Given the description of an element on the screen output the (x, y) to click on. 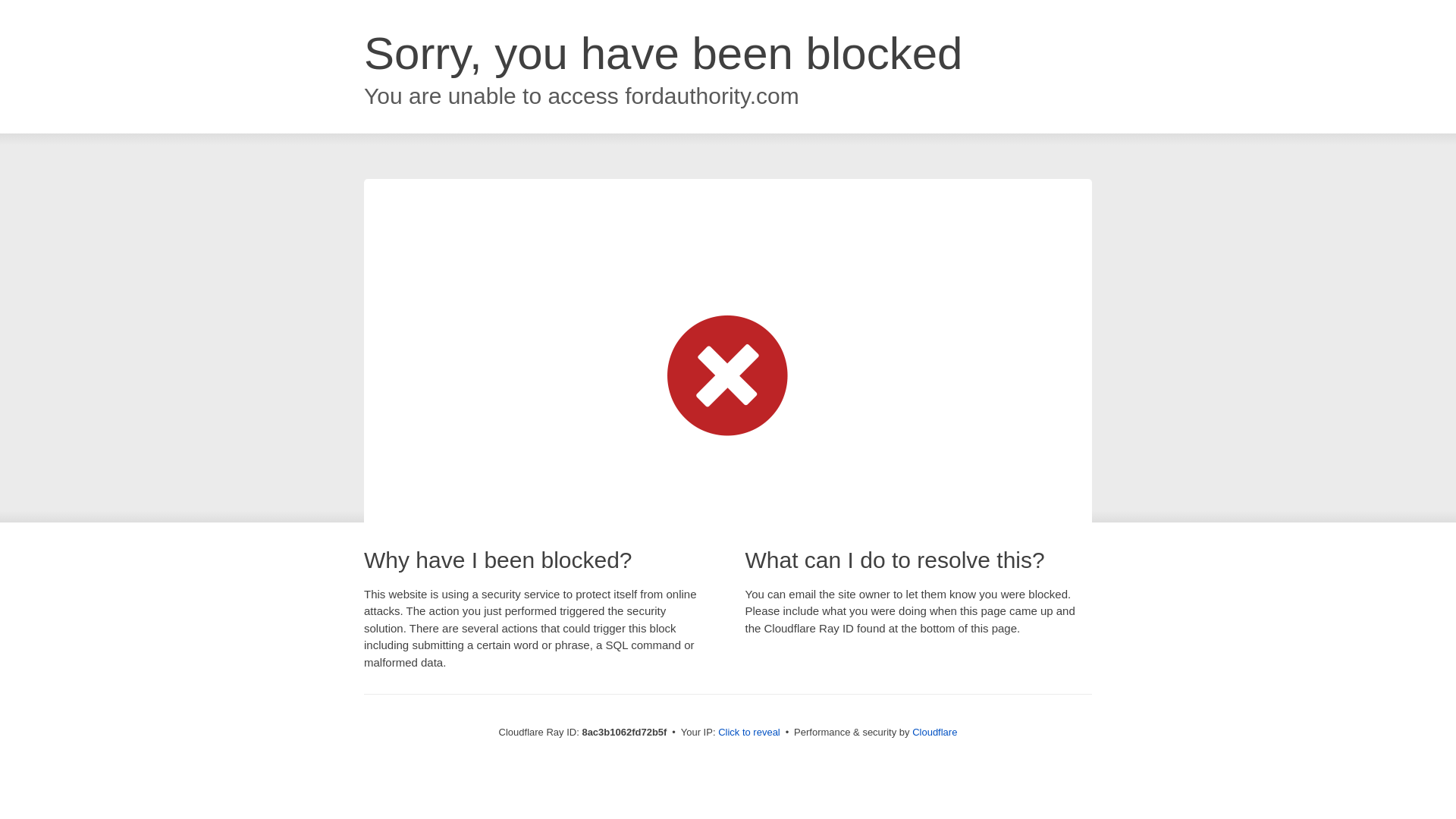
Click to reveal (748, 732)
Cloudflare (934, 731)
